Given the description of an element on the screen output the (x, y) to click on. 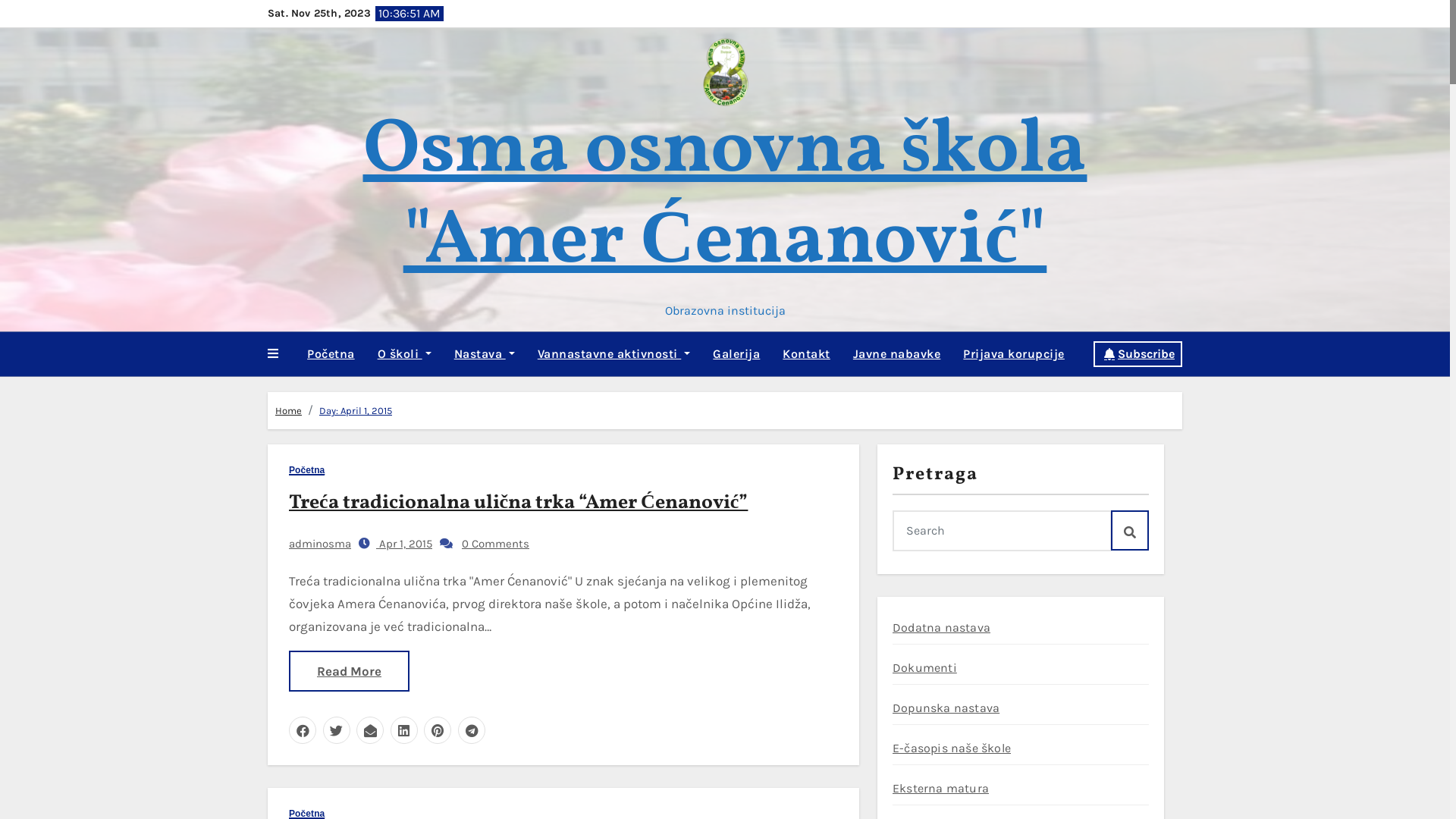
Read More Element type: text (348, 670)
Dodatna nastava Element type: text (941, 627)
Dopunska nastava Element type: text (945, 707)
Dokumenti Element type: text (924, 667)
Vannastavne aktivnosti Element type: text (614, 354)
Javne nabavke Element type: text (896, 354)
Galerija Element type: text (736, 354)
Subscribe Element type: text (1137, 354)
Eksterna matura Element type: text (940, 788)
Prijava korupcije Element type: text (1013, 354)
Kontakt Element type: text (806, 354)
0 Comments Element type: text (495, 543)
Apr 1, 2015 Element type: text (404, 543)
Home Element type: text (288, 410)
adminosma Element type: text (319, 543)
Day: April 1, 2015 Element type: text (355, 410)
Nastava Element type: text (484, 354)
